Given the description of an element on the screen output the (x, y) to click on. 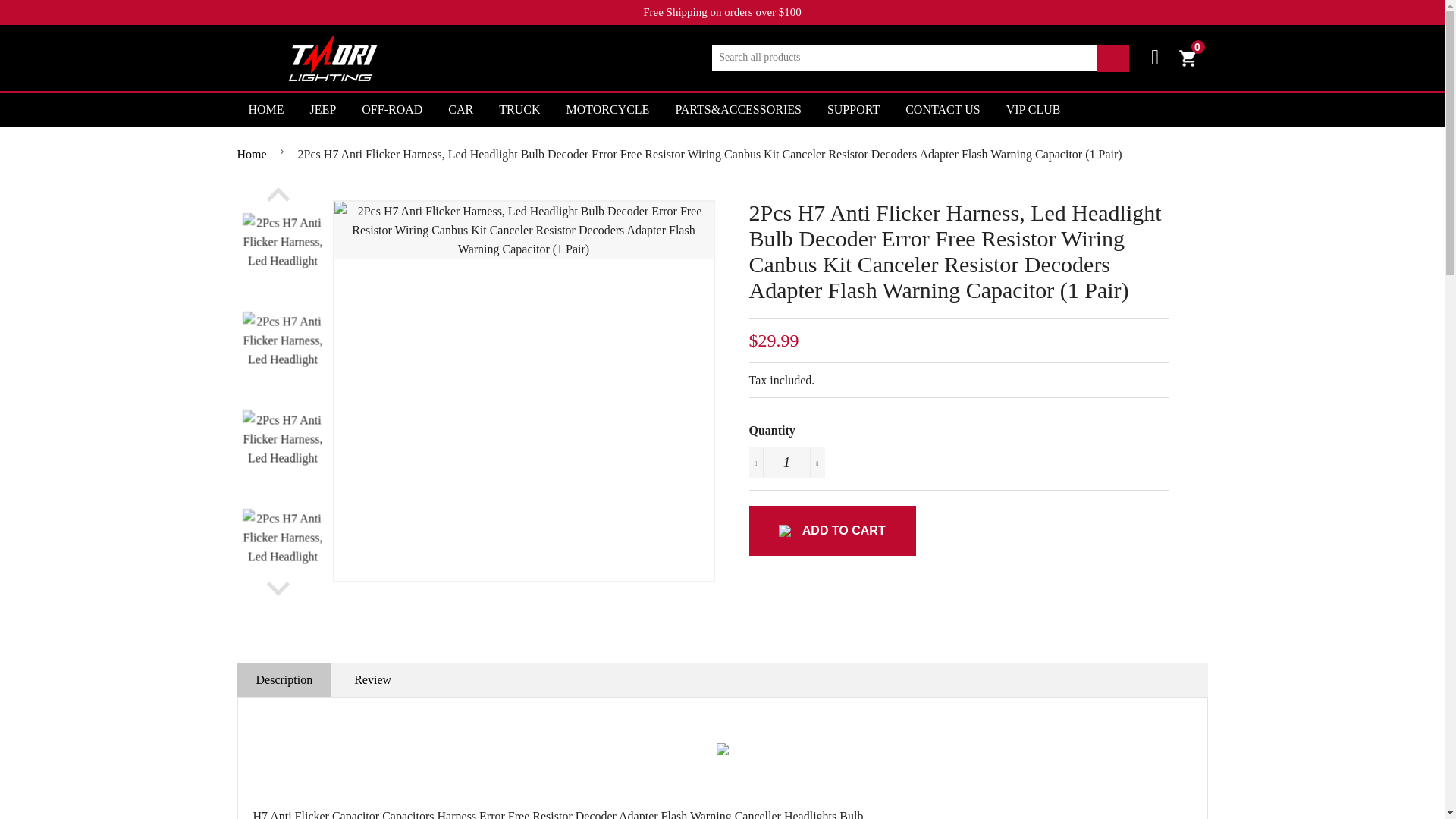
OFF-ROAD (391, 109)
Home (252, 153)
1 (787, 462)
HOME (265, 109)
JEEP (322, 109)
SEARCH (1186, 58)
